Given the description of an element on the screen output the (x, y) to click on. 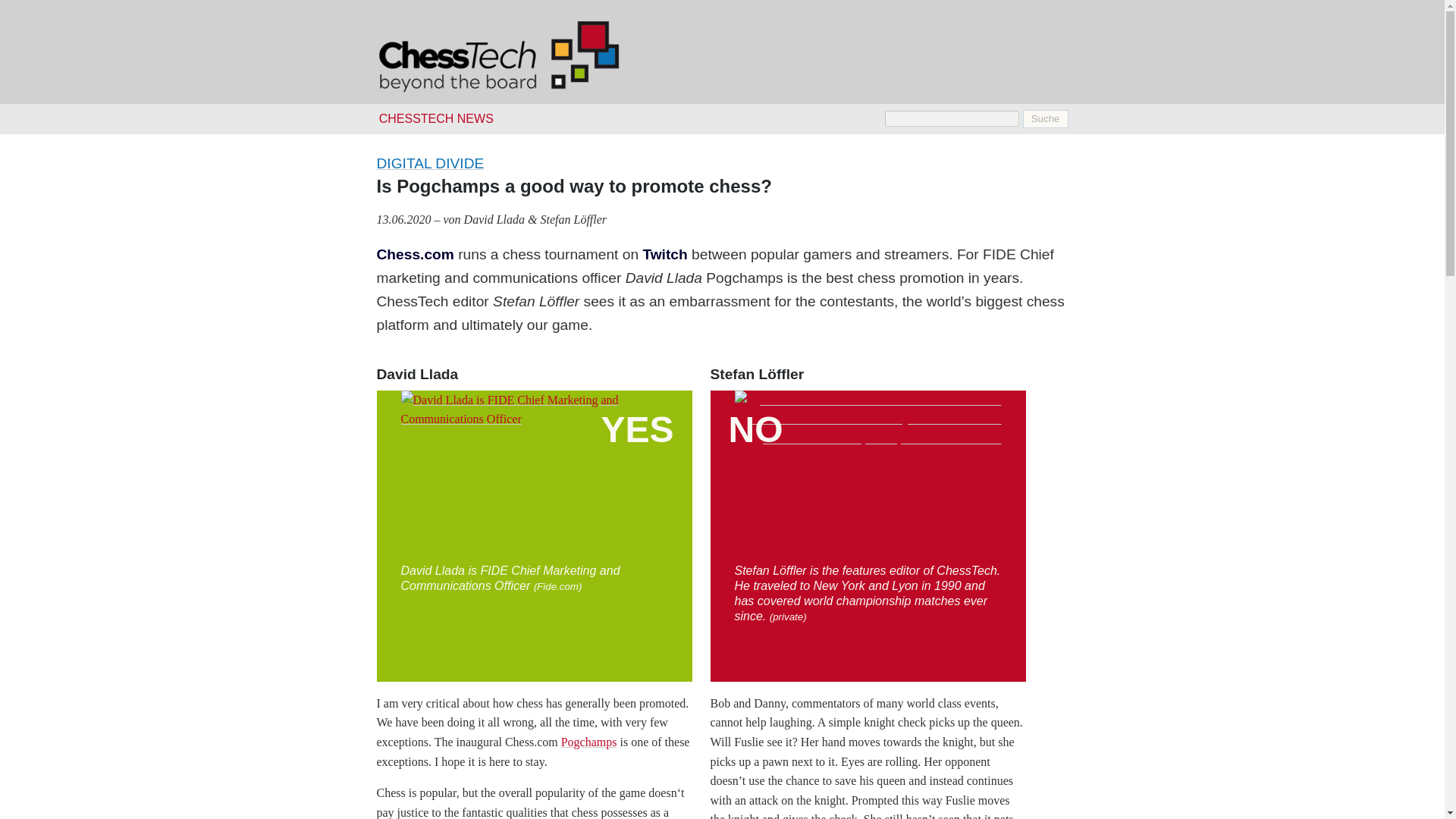
Suche (1045, 118)
CHESSTECH NEWS (435, 118)
Pogchamps (588, 741)
DIGITAL DIVIDE (429, 163)
Suche (1045, 118)
